Given the description of an element on the screen output the (x, y) to click on. 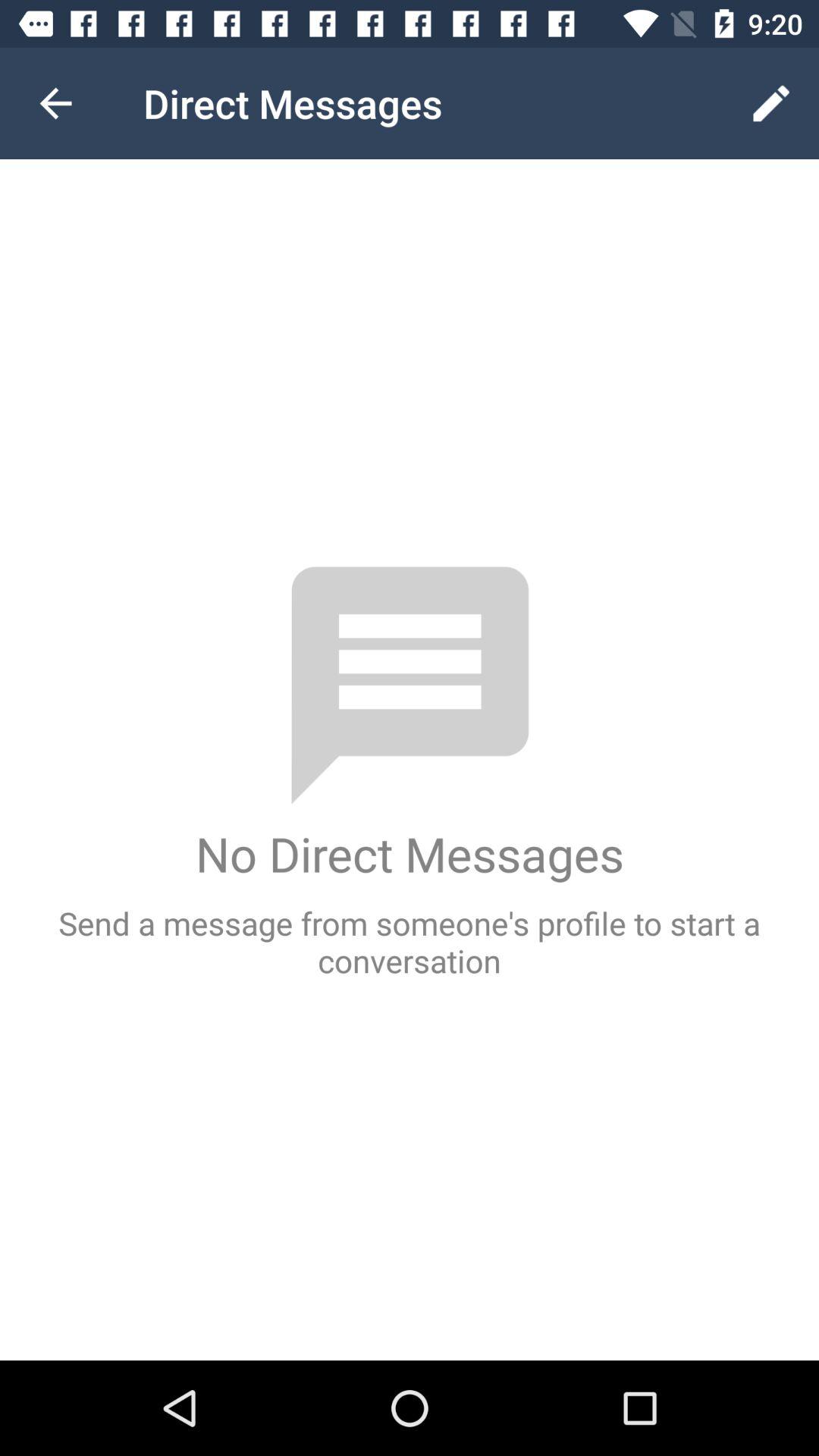
turn on icon next to the direct messages icon (771, 103)
